Given the description of an element on the screen output the (x, y) to click on. 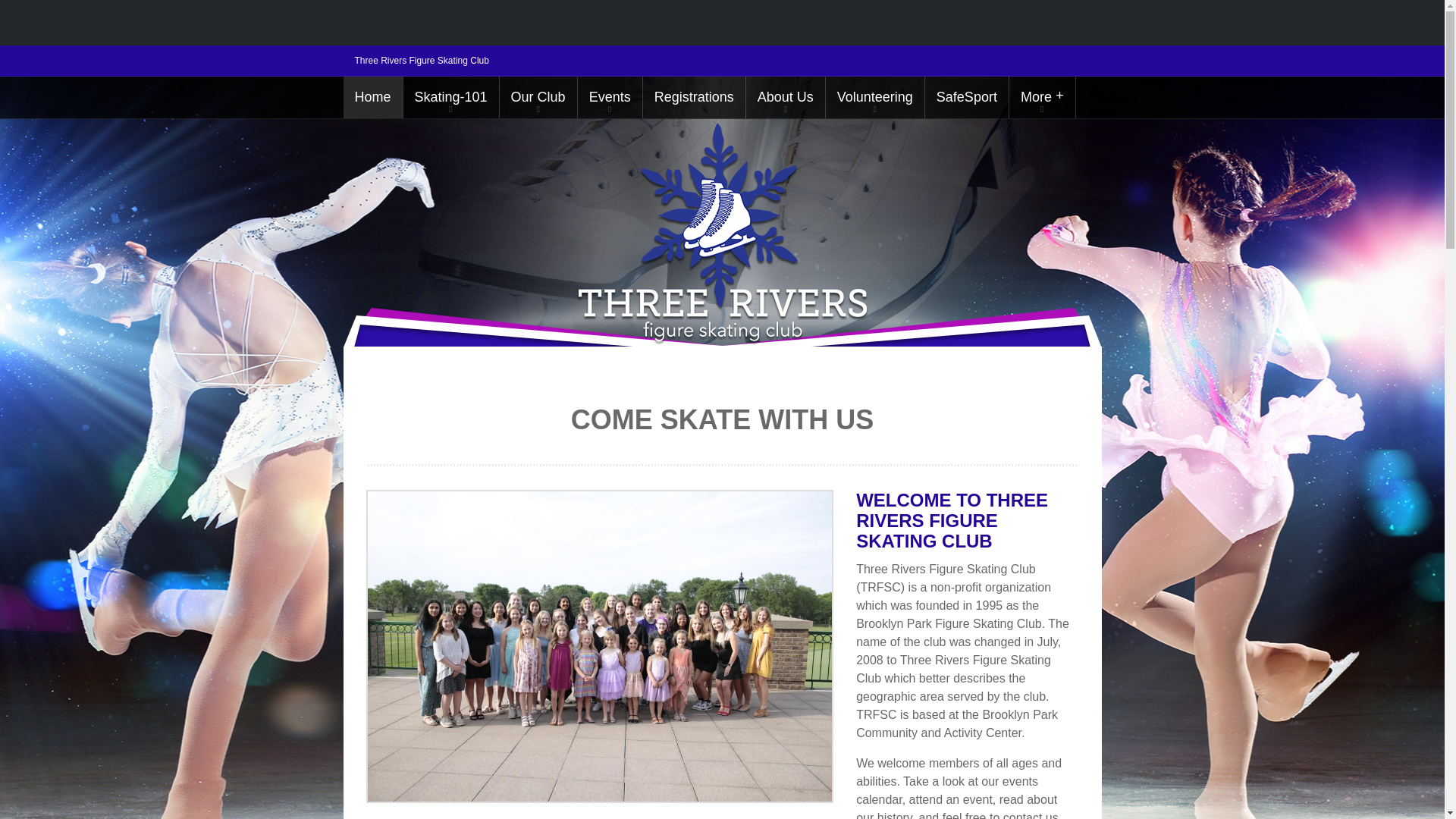
click to go to 'Home Page' (371, 96)
SafeSport (966, 96)
Registrations (694, 96)
Events (610, 96)
click to go to 'About Us' (785, 96)
Our Club (537, 96)
click to go to 'Online Registrations' (694, 96)
click to go to 'Our Club' (537, 96)
Skating-101 (451, 96)
Volunteering (874, 96)
